Given the description of an element on the screen output the (x, y) to click on. 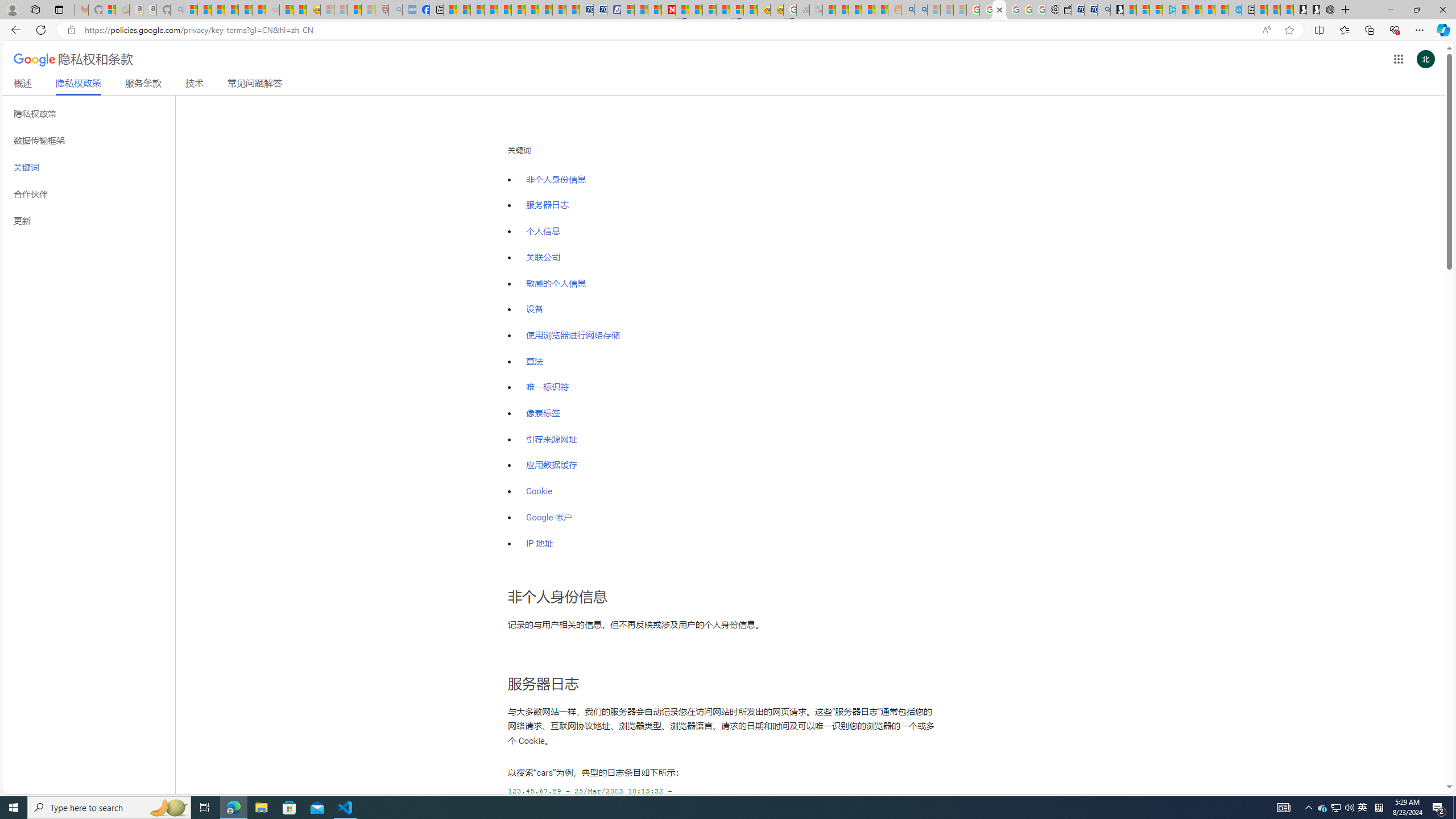
DITOGAMES AG Imprint - Sleeping (816, 9)
Student Loan Update: Forgiveness Program Ends This Month (868, 9)
Class: gb_E (1398, 59)
Climate Damage Becomes Too Severe To Reverse (490, 9)
